Given the description of an element on the screen output the (x, y) to click on. 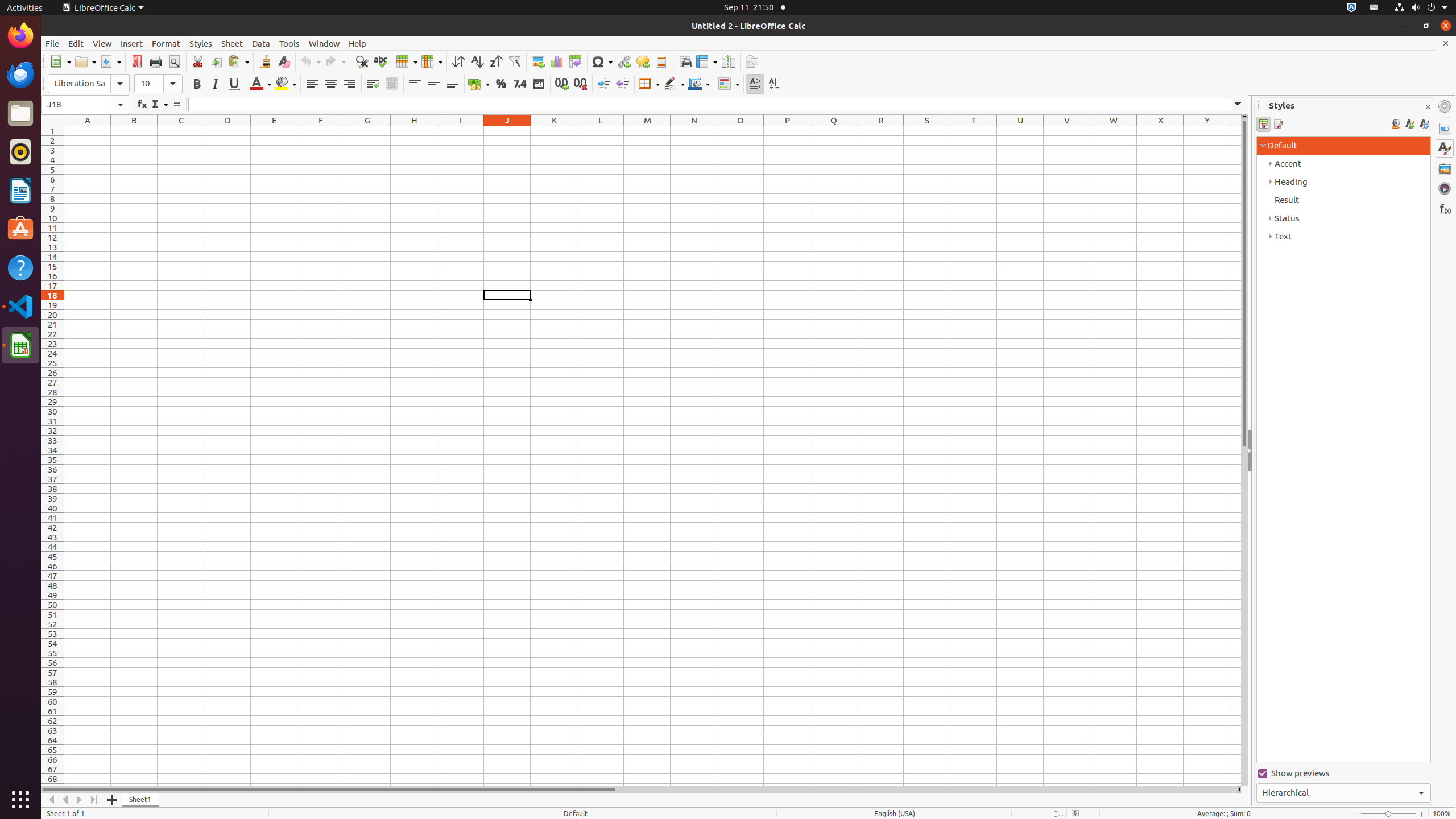
Comment Element type: push-button (642, 61)
Gallery Element type: radio-button (1444, 168)
X1 Element type: table-cell (1159, 130)
Borders (Shift to overwrite) Element type: push-button (648, 83)
